Given the description of an element on the screen output the (x, y) to click on. 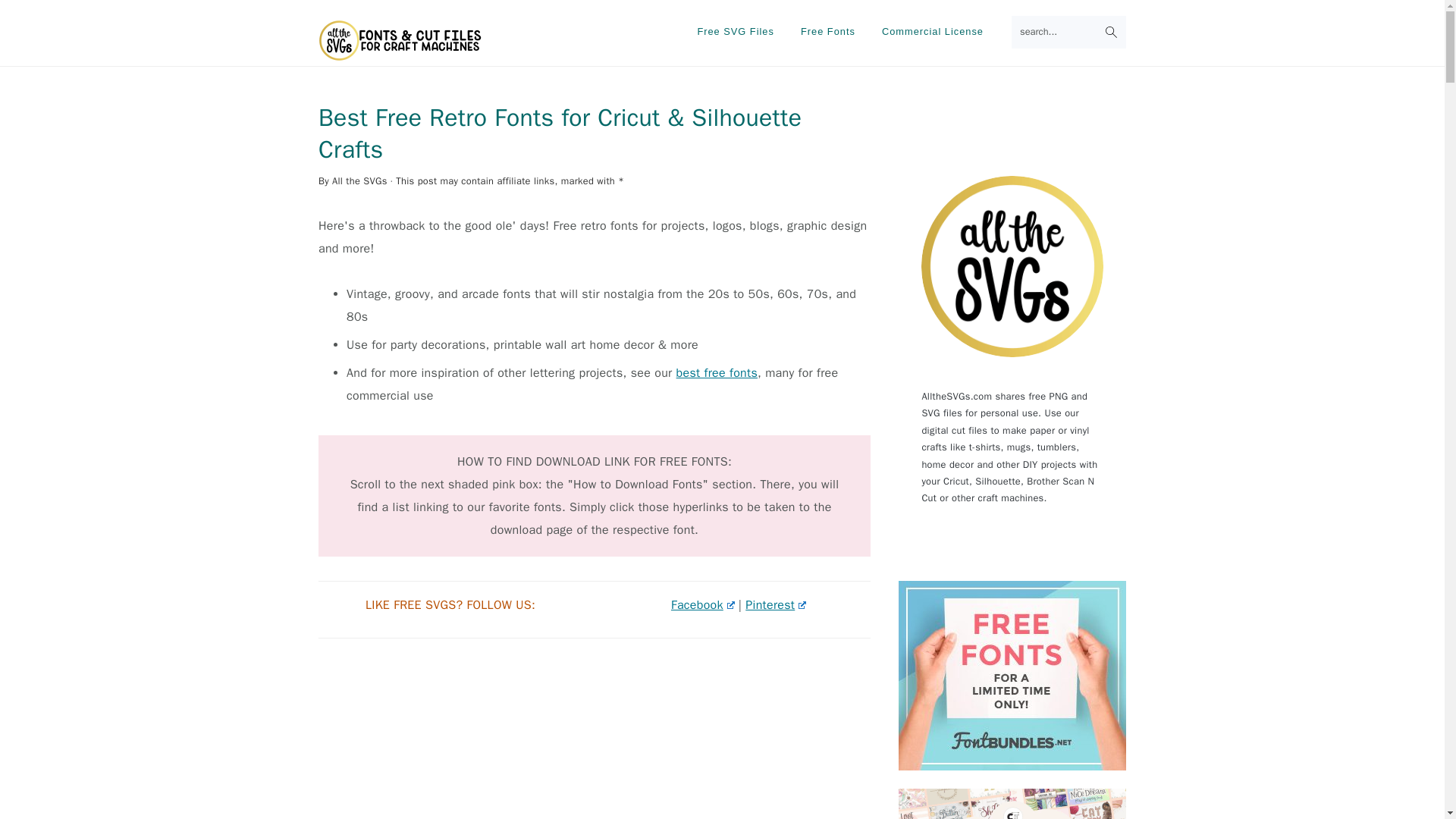
Commercial License (932, 32)
All the SVGs (359, 181)
Pinterest (775, 604)
All the SVGs (399, 40)
Free Fonts (827, 32)
All the SVGs (399, 52)
Facebook (703, 604)
best free fonts (717, 372)
Free SVG Files (734, 32)
